Given the description of an element on the screen output the (x, y) to click on. 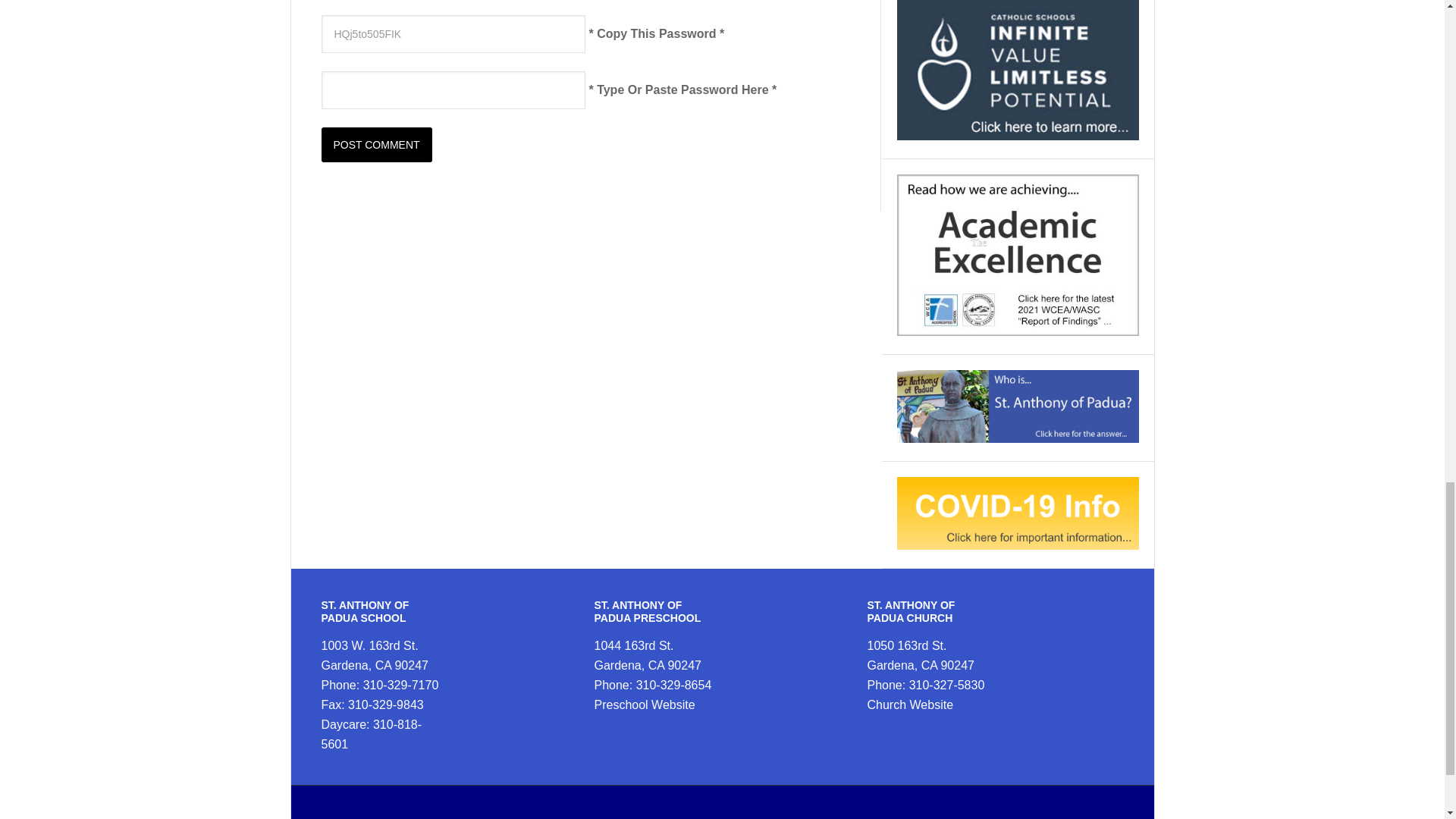
HQj5to505FIK (453, 34)
Post Comment (376, 144)
